Given the description of an element on the screen output the (x, y) to click on. 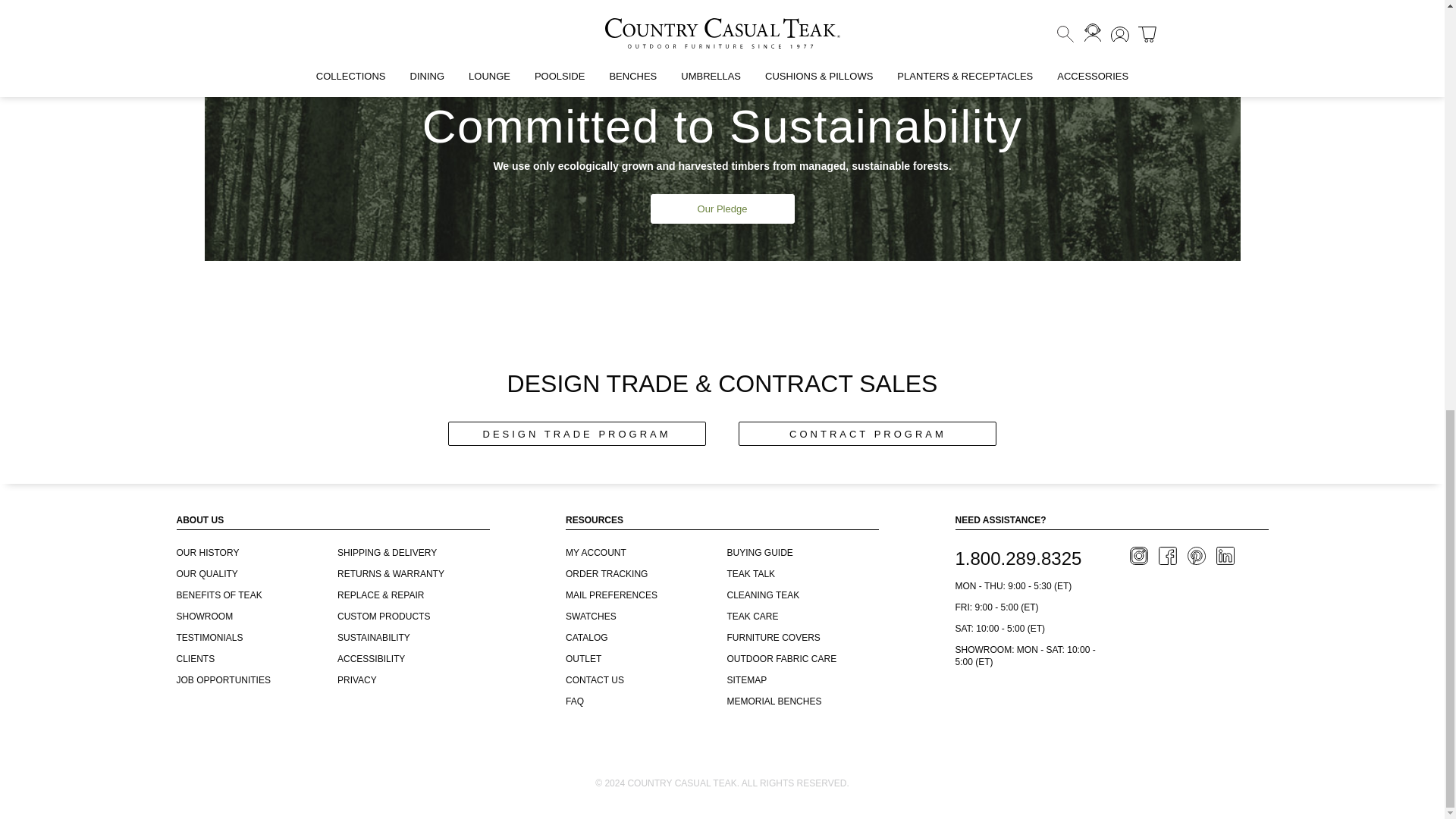
Our Ecological Statement (722, 208)
Committed to Sustainability (722, 146)
Our Ecological Statement (722, 207)
